Given the description of an element on the screen output the (x, y) to click on. 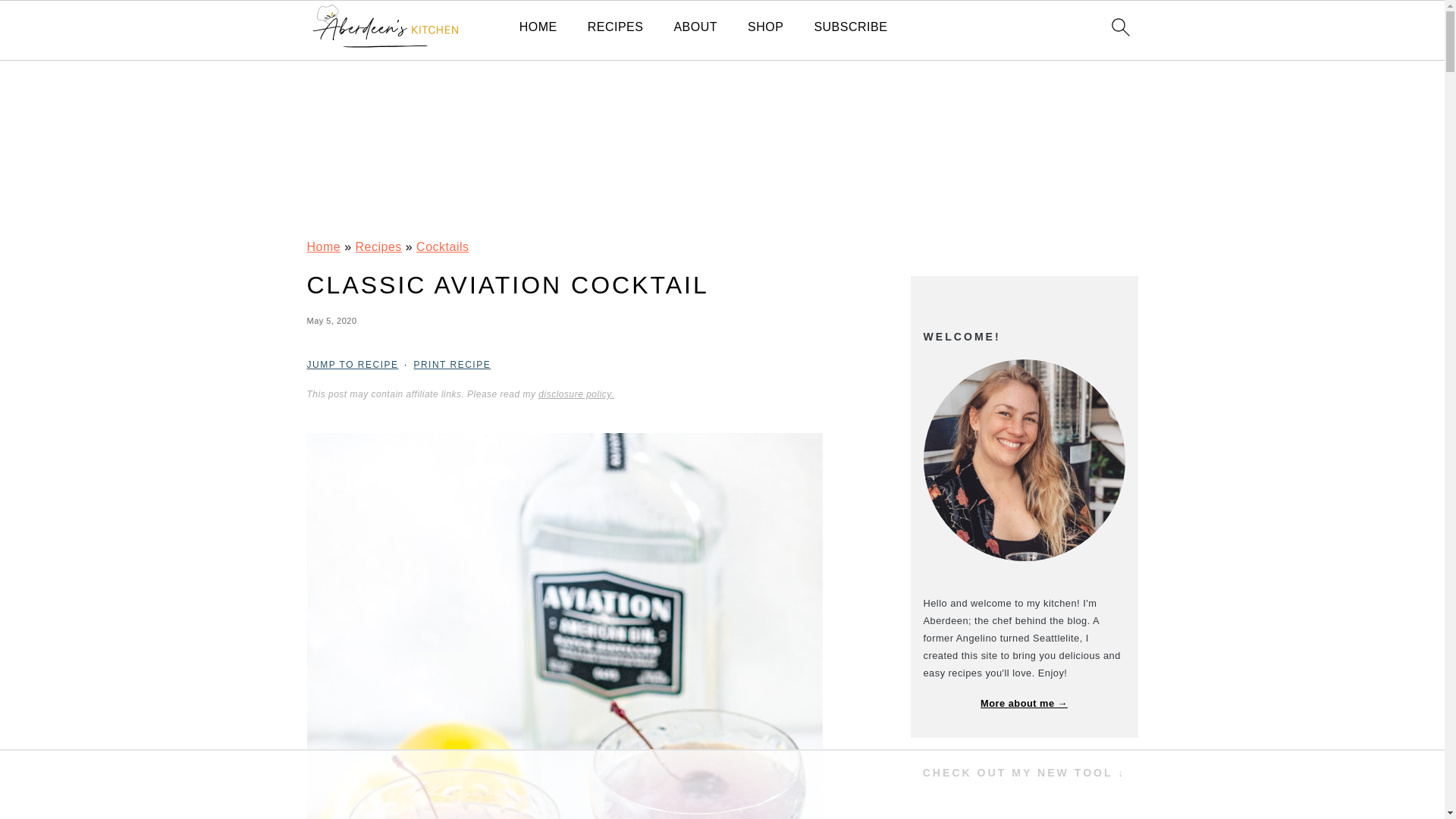
SHOP (765, 26)
RECIPES (615, 26)
JUMP TO RECIPE (351, 365)
ABOUT (694, 26)
SUBSCRIBE (849, 26)
search icon (1119, 26)
HOME (538, 26)
